Given the description of an element on the screen output the (x, y) to click on. 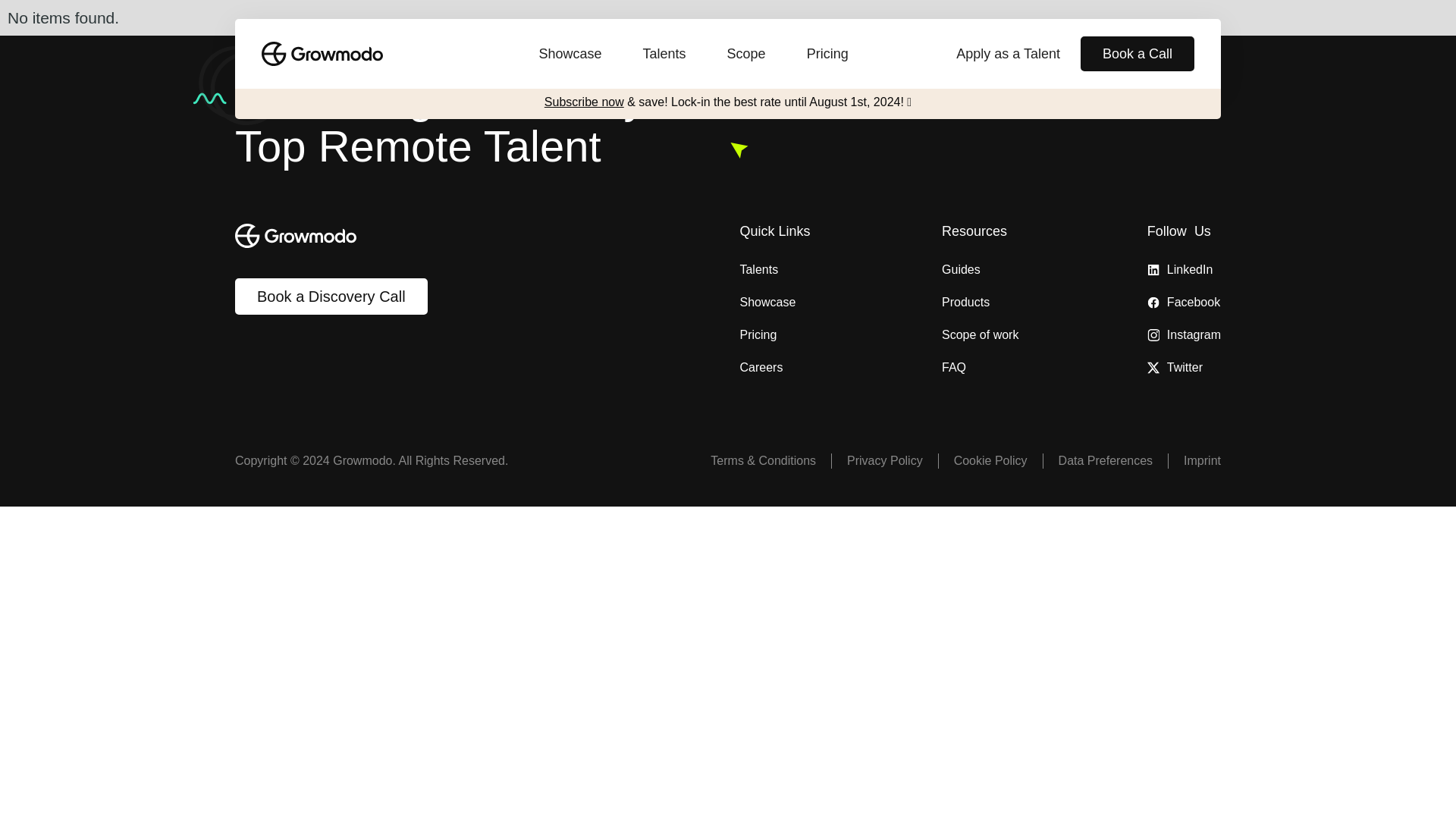
Apply as a Talent (1007, 53)
Guides (979, 269)
Pricing (817, 335)
Talents (664, 53)
Scope (745, 53)
Showcase (817, 302)
Talents (817, 269)
Pricing (827, 53)
Book a Call (1136, 53)
Privacy Policy (982, 460)
Careers (817, 367)
Data Preferences (1097, 460)
Terms and Conditions (755, 460)
Book a Discovery Call (331, 296)
Privacy Policy (877, 460)
